Given the description of an element on the screen output the (x, y) to click on. 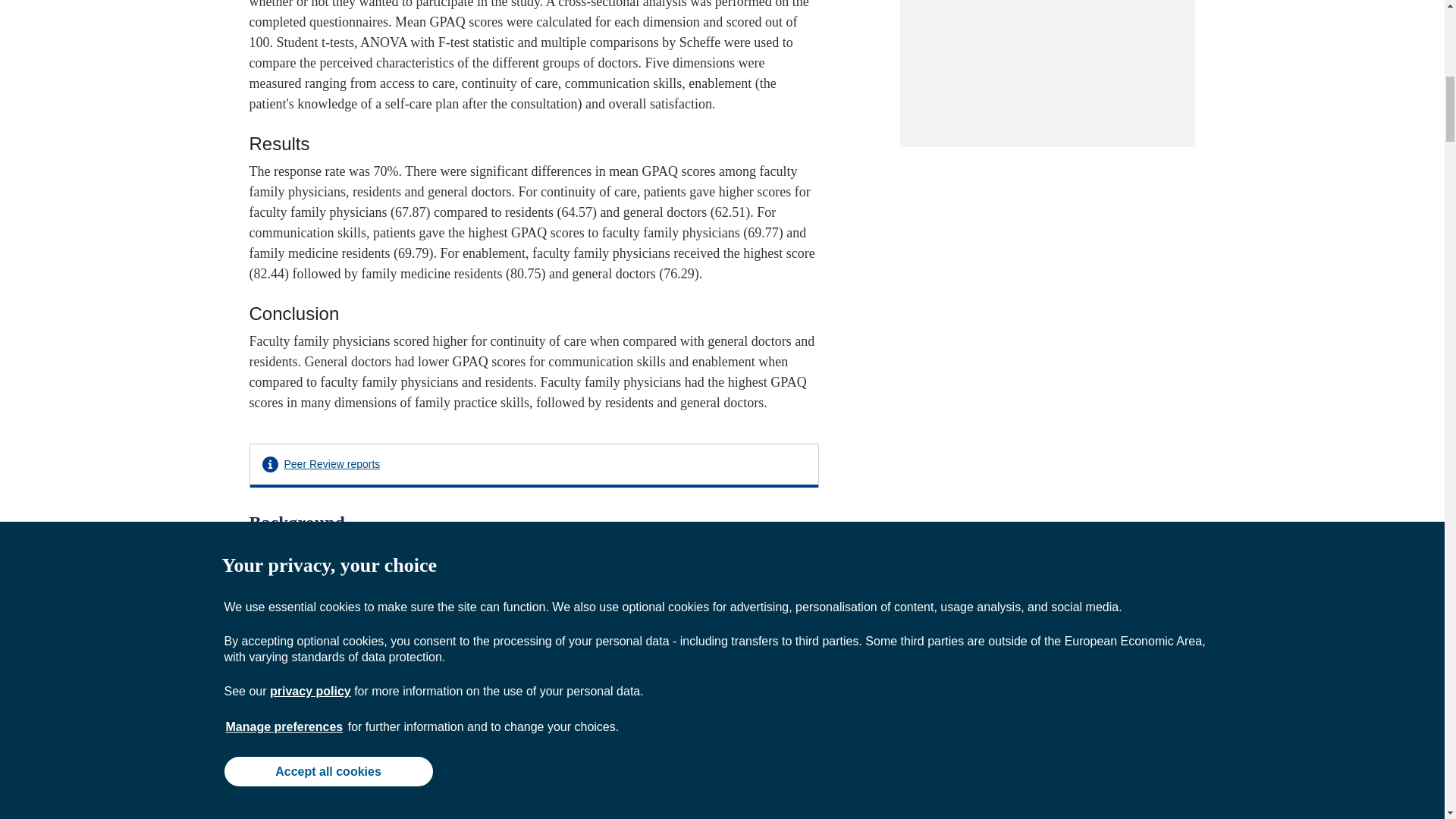
Peer Review reports (331, 464)
3rd party ad content (1047, 70)
